Given the description of an element on the screen output the (x, y) to click on. 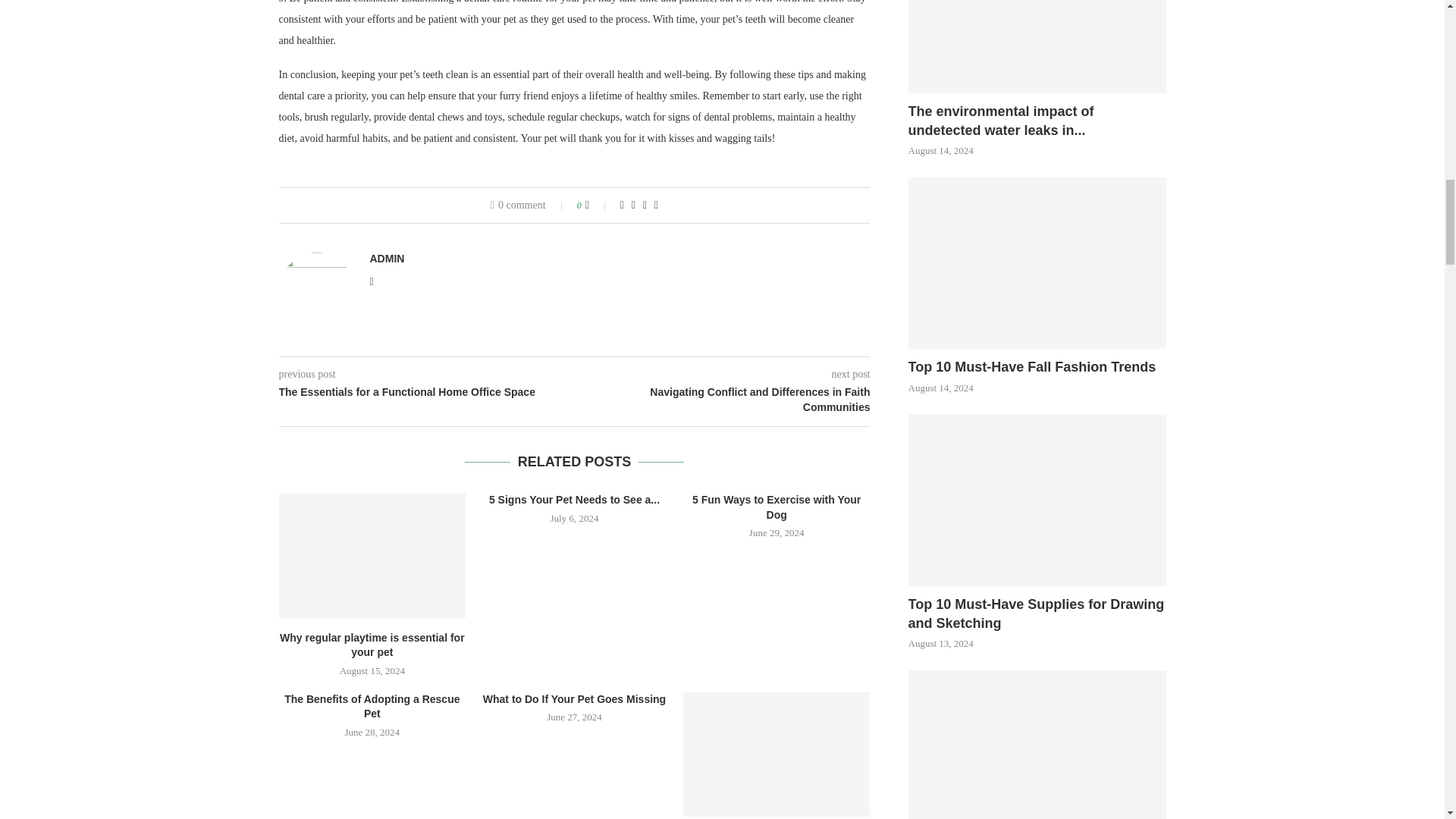
Why regular playtime is essential for your pet (372, 555)
How to Help Your Pet Cope with Separation Anxiety (776, 754)
Top 10 Must-Have Fall Fashion Trends (1037, 366)
Like (597, 205)
Top 10 Must-Have Fall Fashion Trends (1037, 263)
The Essentials for a Functional Home Office Space (427, 392)
ADMIN (386, 258)
Author admin (386, 258)
